Given the description of an element on the screen output the (x, y) to click on. 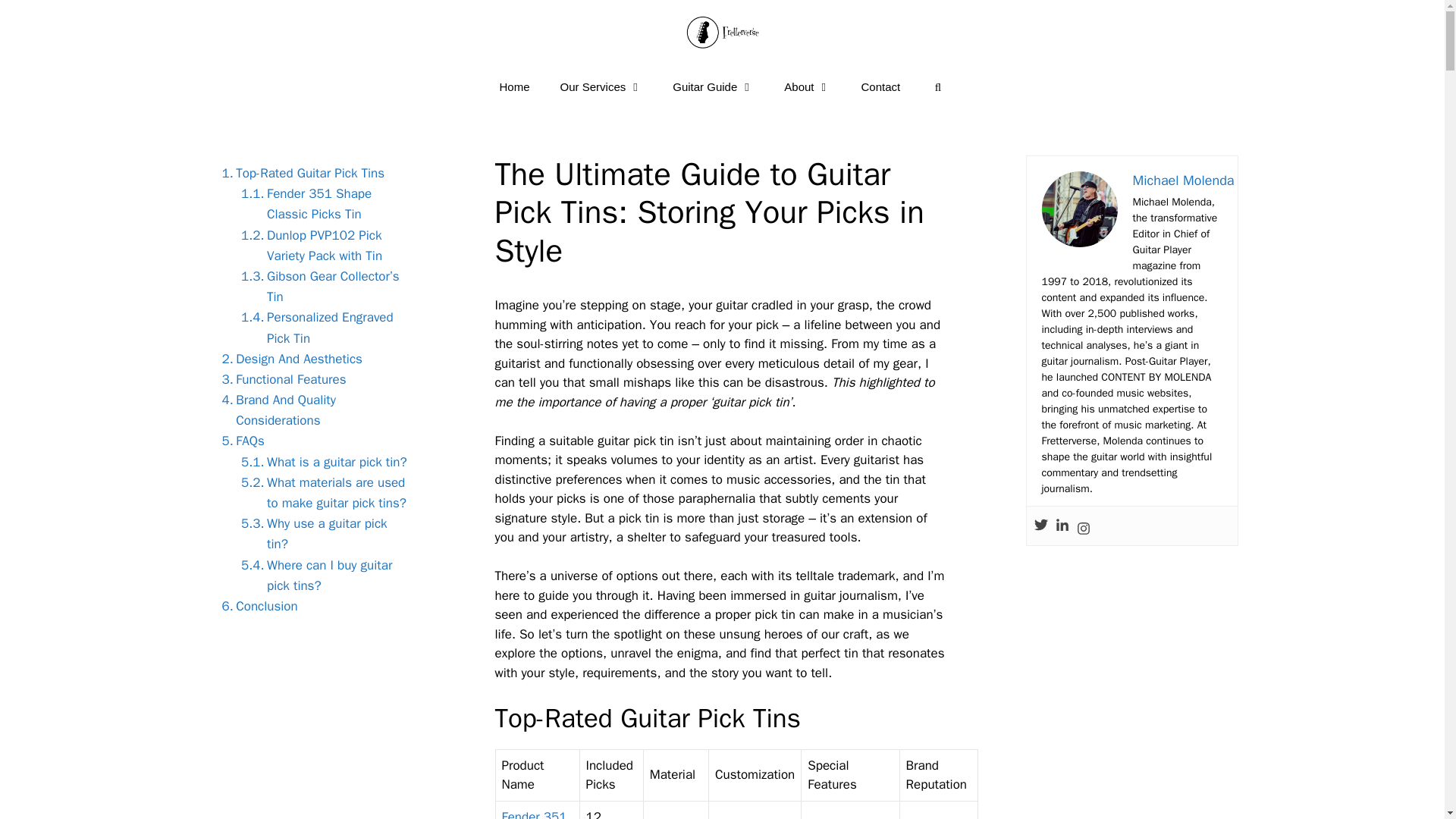
Top-Rated Guitar Pick Tins (299, 172)
Personalized Engraved Pick Tin (322, 327)
Brand And Quality Considerations (312, 409)
Our Services (601, 86)
FAQs (238, 440)
Design And Aesthetics (287, 358)
Guitar Guide (713, 86)
Dunlop PVP102 Pick Variety Pack with Tin (322, 245)
Functional Features (280, 379)
Fender 351 Shape Classic Picks Tin (322, 203)
